Given the description of an element on the screen output the (x, y) to click on. 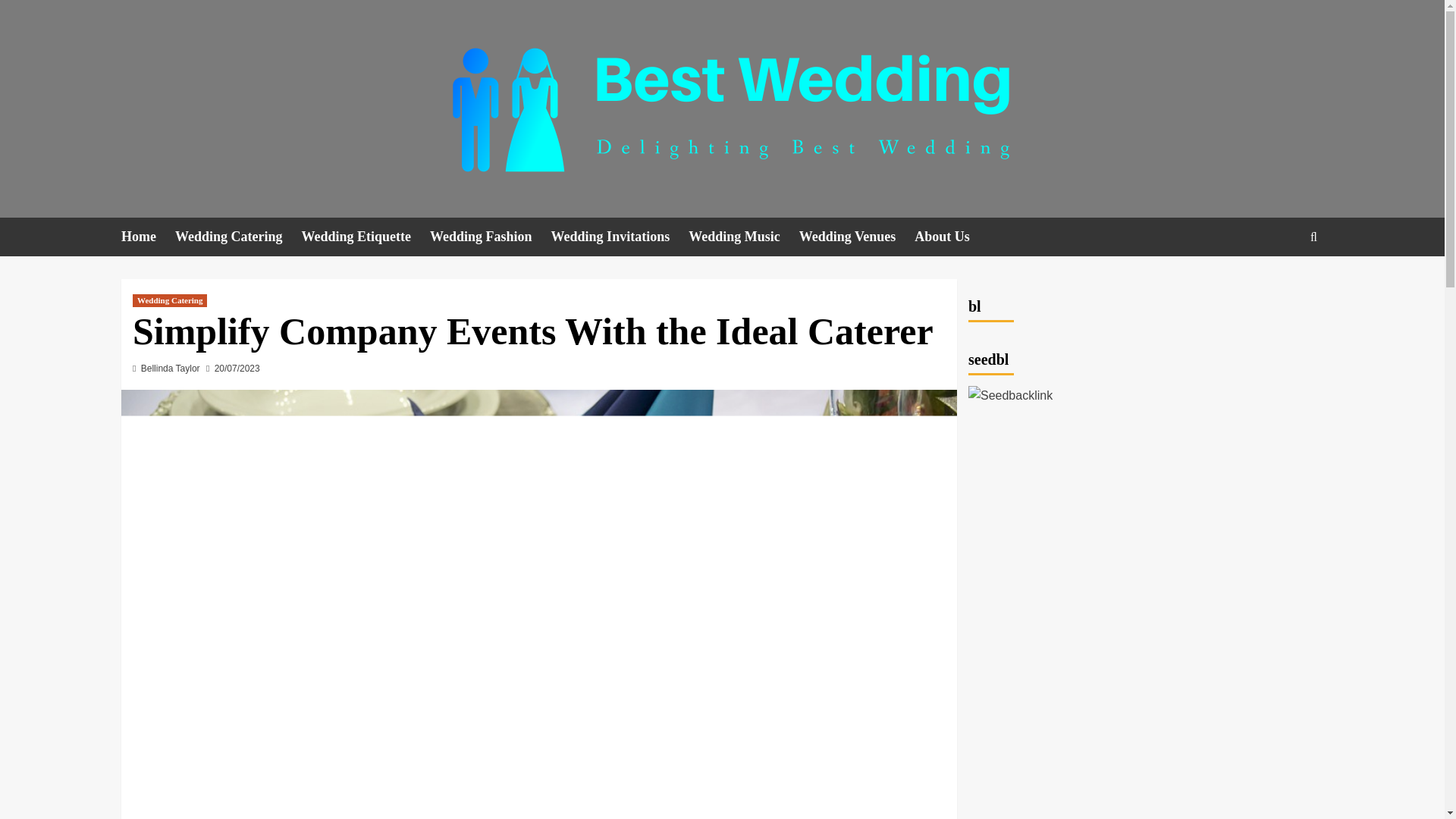
Wedding Catering (169, 300)
Wedding Etiquette (365, 236)
Wedding Catering (237, 236)
Home (147, 236)
Seedbacklink (1010, 395)
Wedding Fashion (490, 236)
Search (1278, 283)
Wedding Invitations (619, 236)
Bellinda Taylor (170, 368)
